Given the description of an element on the screen output the (x, y) to click on. 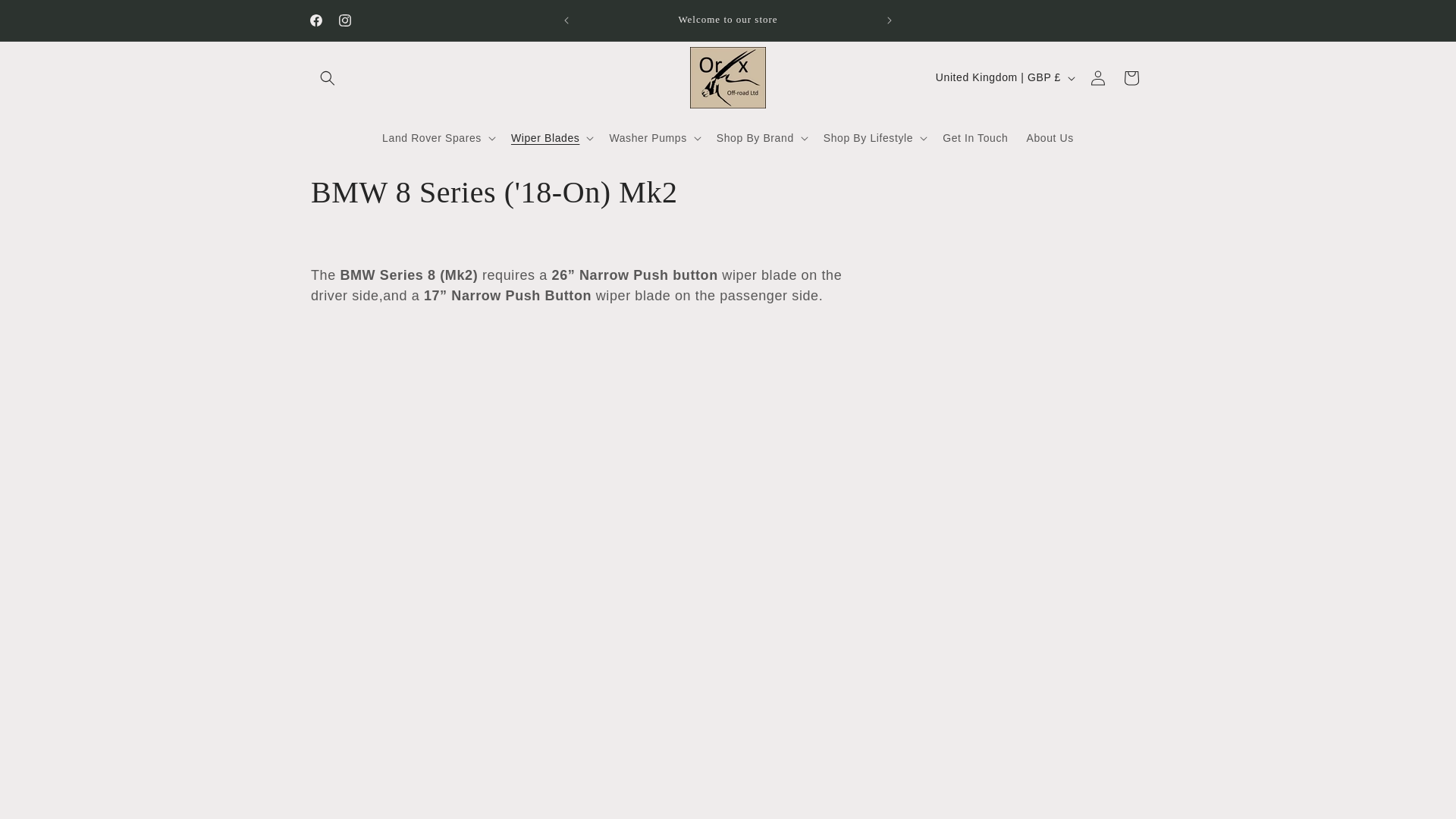
Facebook (315, 20)
Instagram (344, 20)
Skip to content (45, 17)
